Given the description of an element on the screen output the (x, y) to click on. 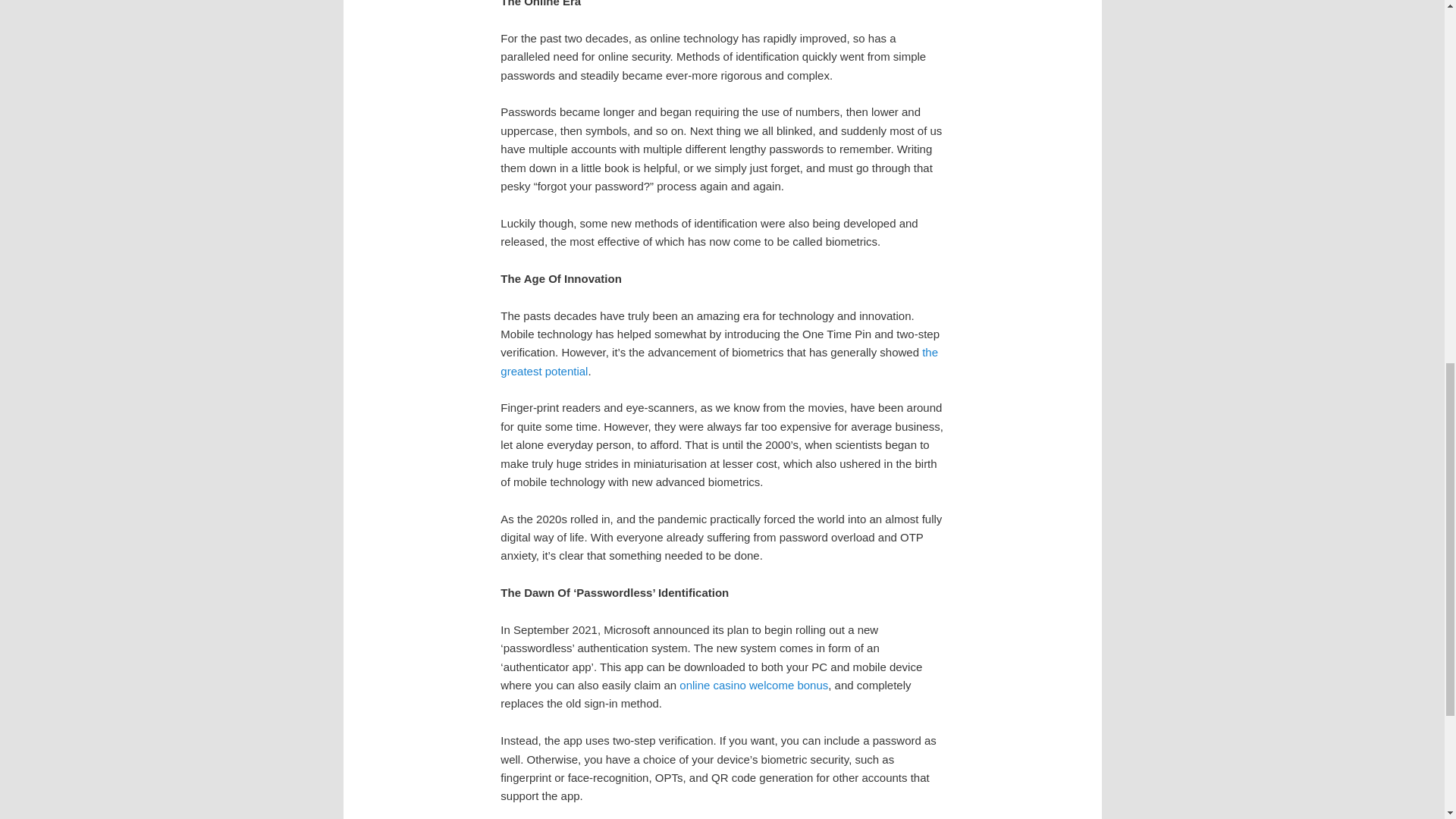
online casino welcome bonus (753, 684)
the greatest potential (718, 360)
